Given the description of an element on the screen output the (x, y) to click on. 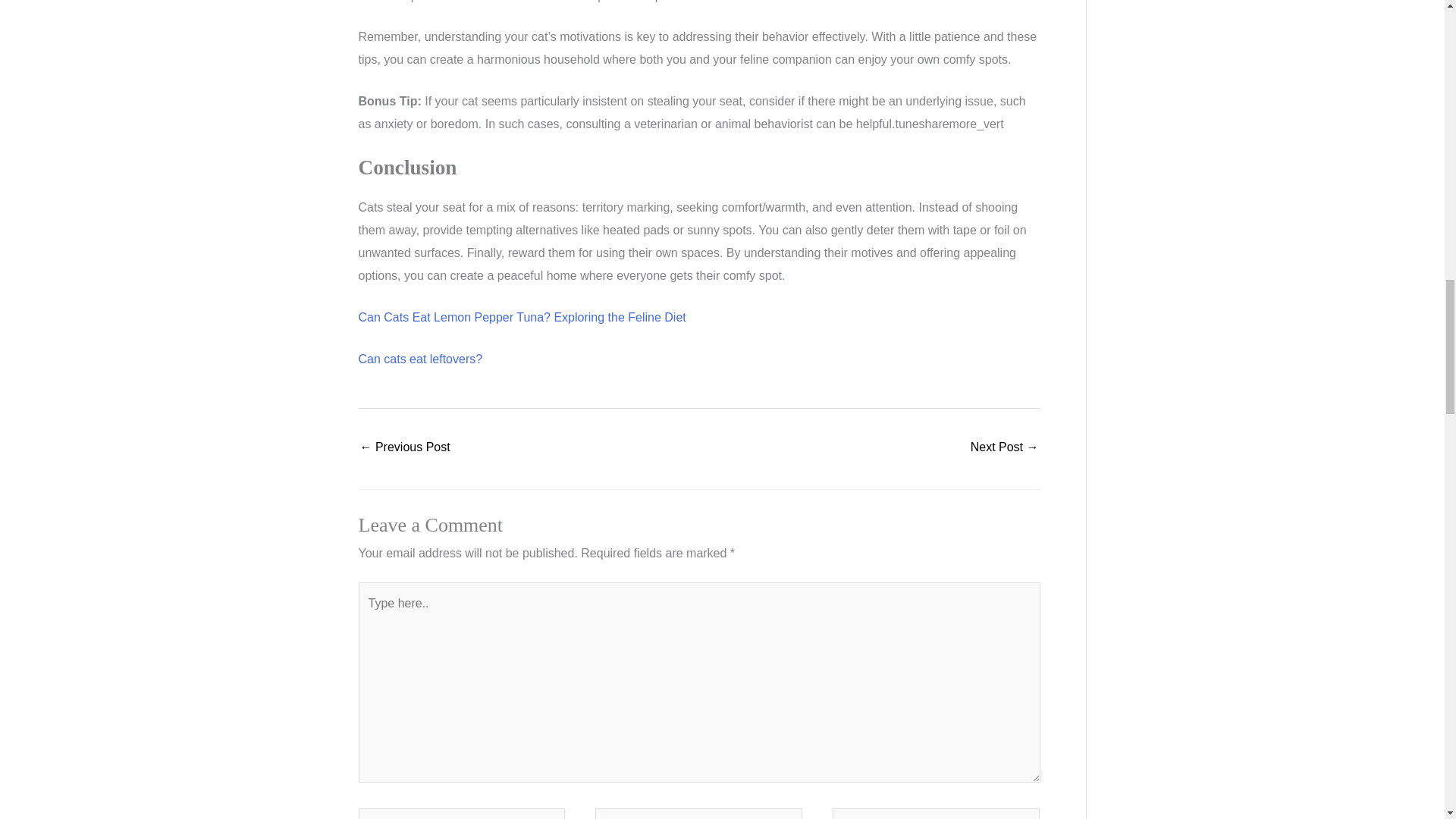
Can Cats Eat Lemon Pepper Tuna? Exploring the Feline Diet (521, 317)
Ivermectin Dosage for Cats Ear Mites (1005, 448)
Can Cats Eat Flour? What You Need To Know! (404, 448)
Can cats eat leftovers? (419, 358)
